Given the description of an element on the screen output the (x, y) to click on. 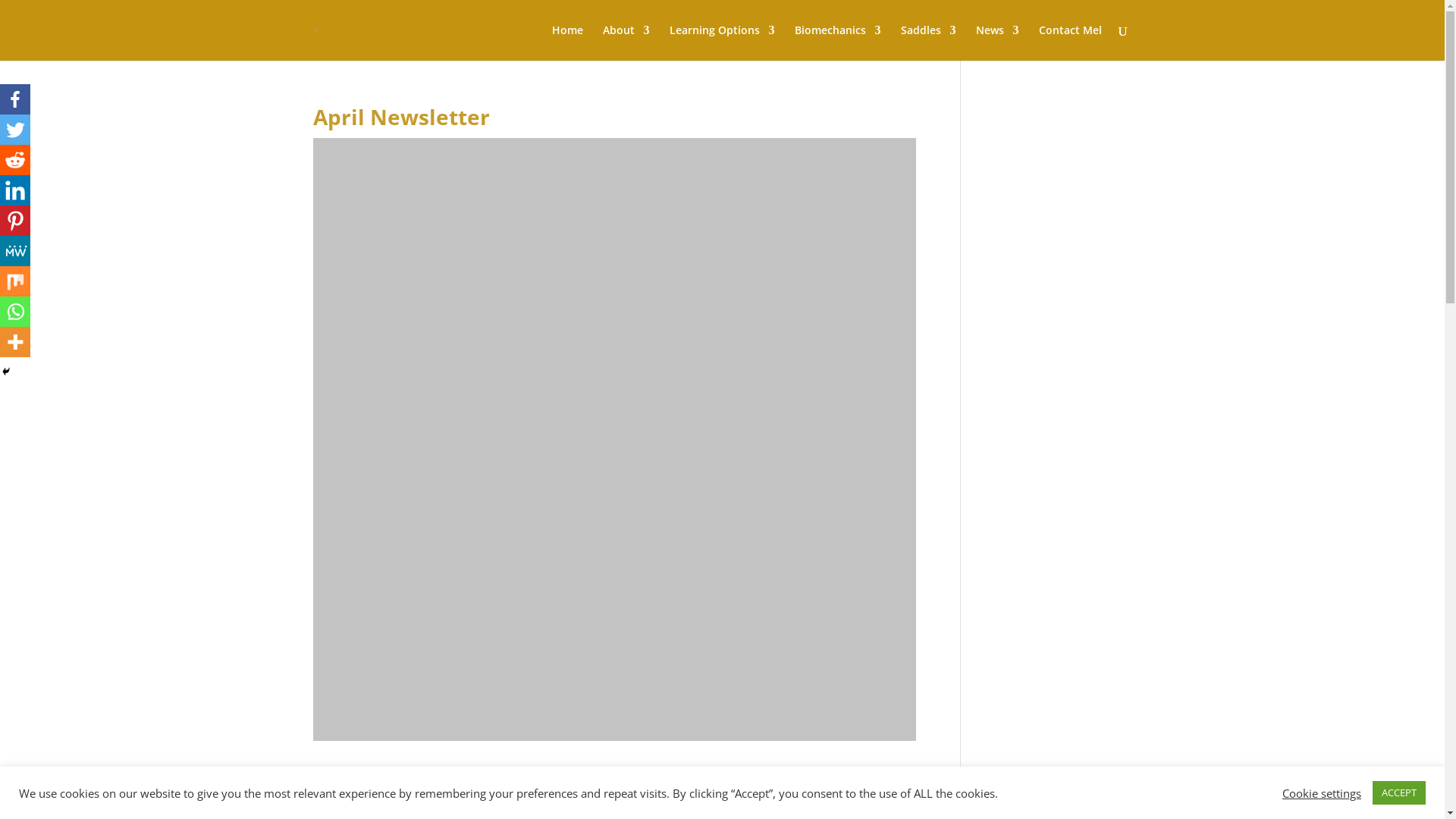
Mix Element type: hover (15, 281)
About Element type: text (625, 42)
Facebook Element type: hover (15, 99)
MeWe Element type: hover (15, 250)
ACCEPT Element type: text (1398, 792)
Learning Options Element type: text (721, 42)
News Element type: text (996, 42)
More Element type: hover (15, 341)
Pinterest Element type: hover (15, 220)
Saddles Element type: text (928, 42)
Contact Mel Element type: text (1069, 42)
Linkedin Element type: hover (15, 190)
Reddit Element type: hover (15, 159)
Whatsapp Element type: hover (15, 311)
Cookie settings Element type: text (1321, 792)
Hide Element type: hover (6, 371)
Twitter Element type: hover (15, 129)
Home Element type: text (567, 42)
Biomechanics Element type: text (837, 42)
